Given the description of an element on the screen output the (x, y) to click on. 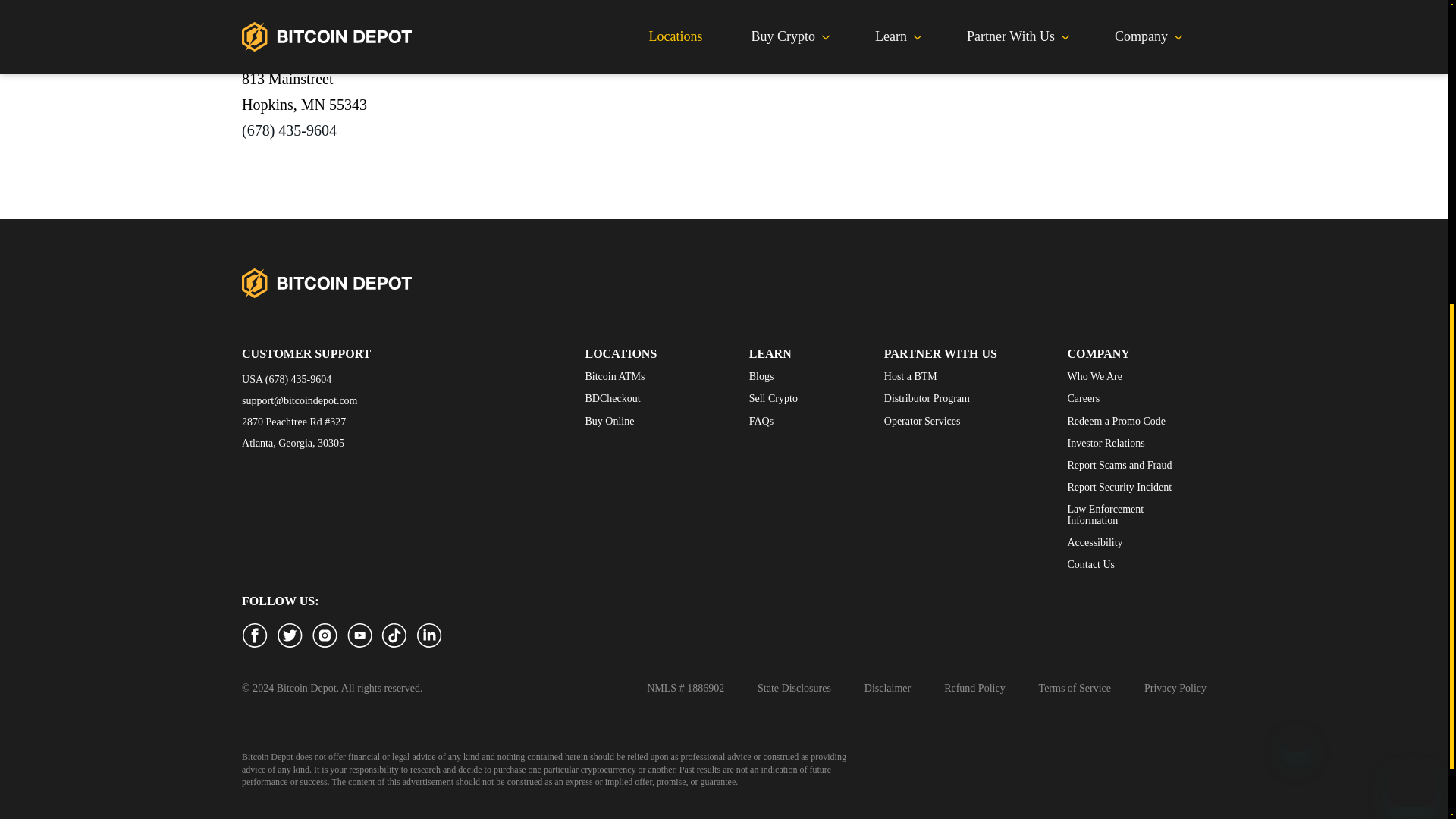
Host a BTM (926, 376)
BDCheckout (615, 398)
Careers (1129, 398)
Buy Online (615, 421)
Close message (1296, 213)
Bitcoin Depot - Bitcoin ATM - 813 Mainstreet (354, 48)
FAQs (773, 421)
Sell Crypto (773, 398)
Bitcoin ATMs (615, 376)
Who We Are (1129, 376)
Operator Services (926, 421)
Distributor Program (926, 398)
Button to launch messaging window (1411, 258)
Blogs (773, 376)
